Given the description of an element on the screen output the (x, y) to click on. 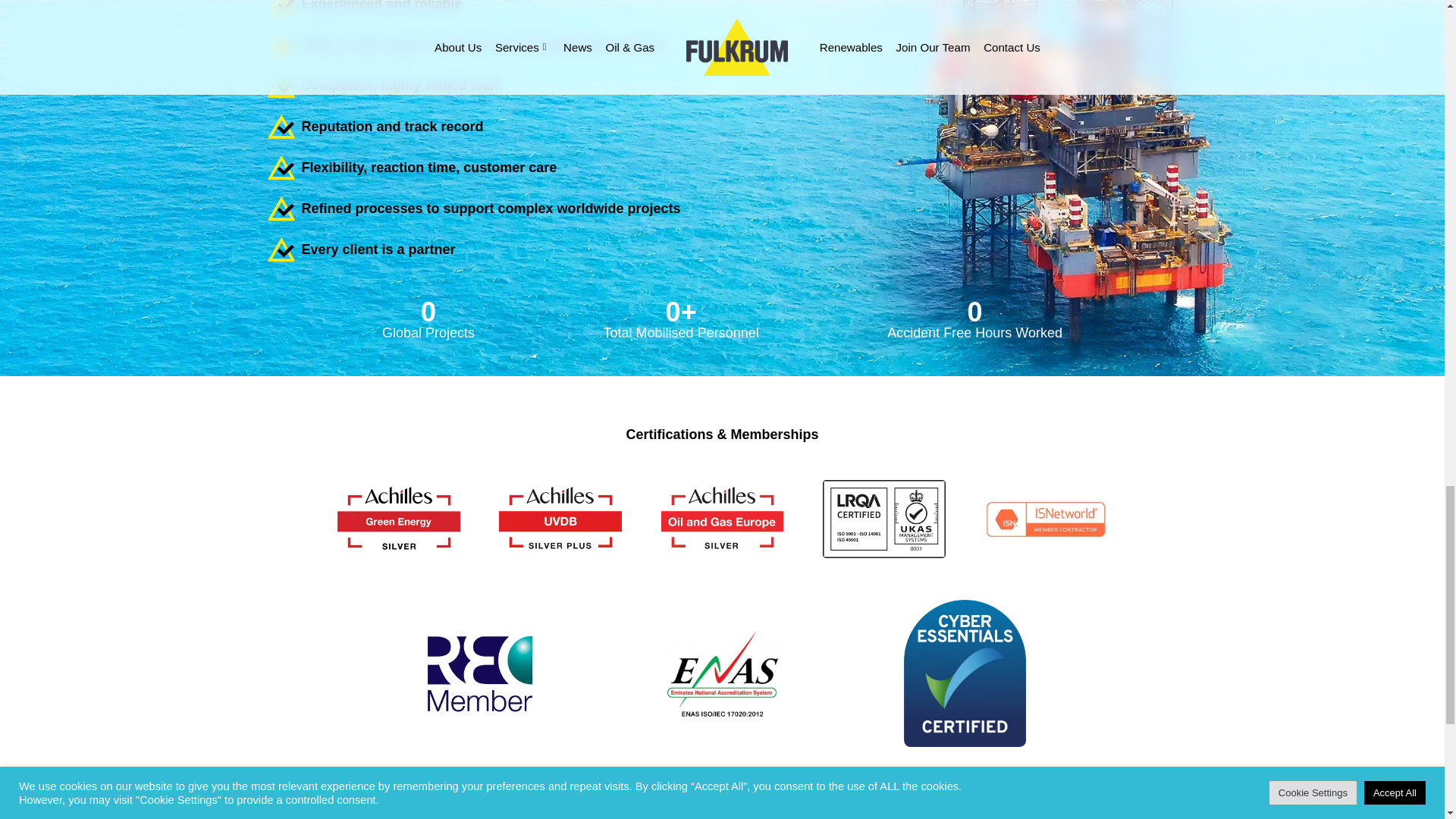
Integrated Management System Policy (722, 795)
